Given the description of an element on the screen output the (x, y) to click on. 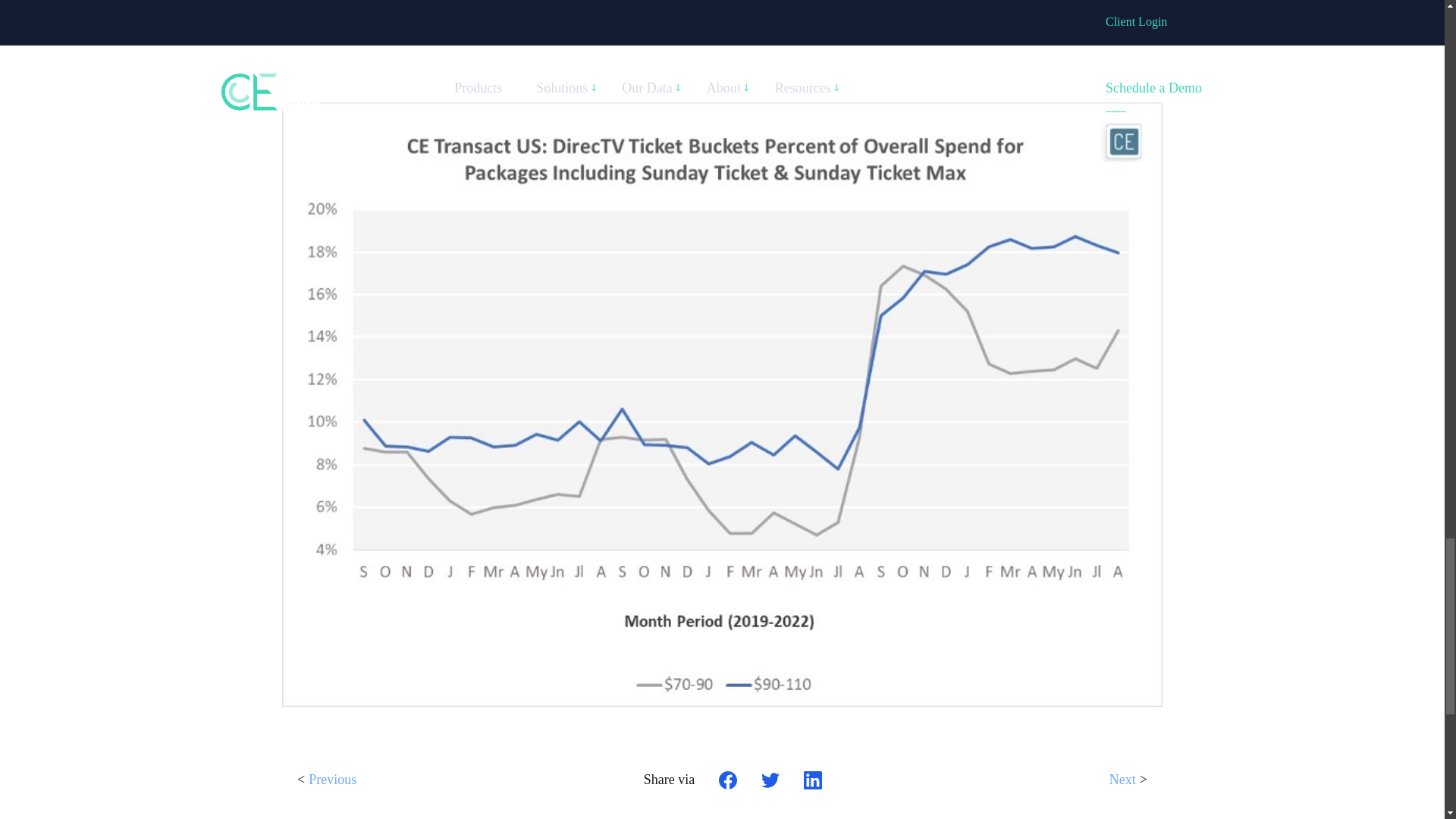
Previous (332, 785)
